Given the description of an element on the screen output the (x, y) to click on. 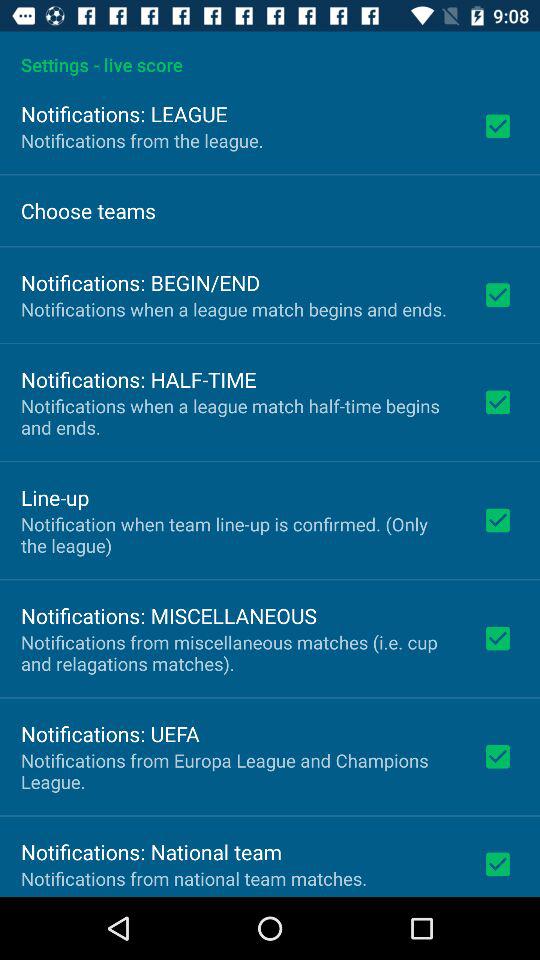
scroll to choose teams item (88, 210)
